Given the description of an element on the screen output the (x, y) to click on. 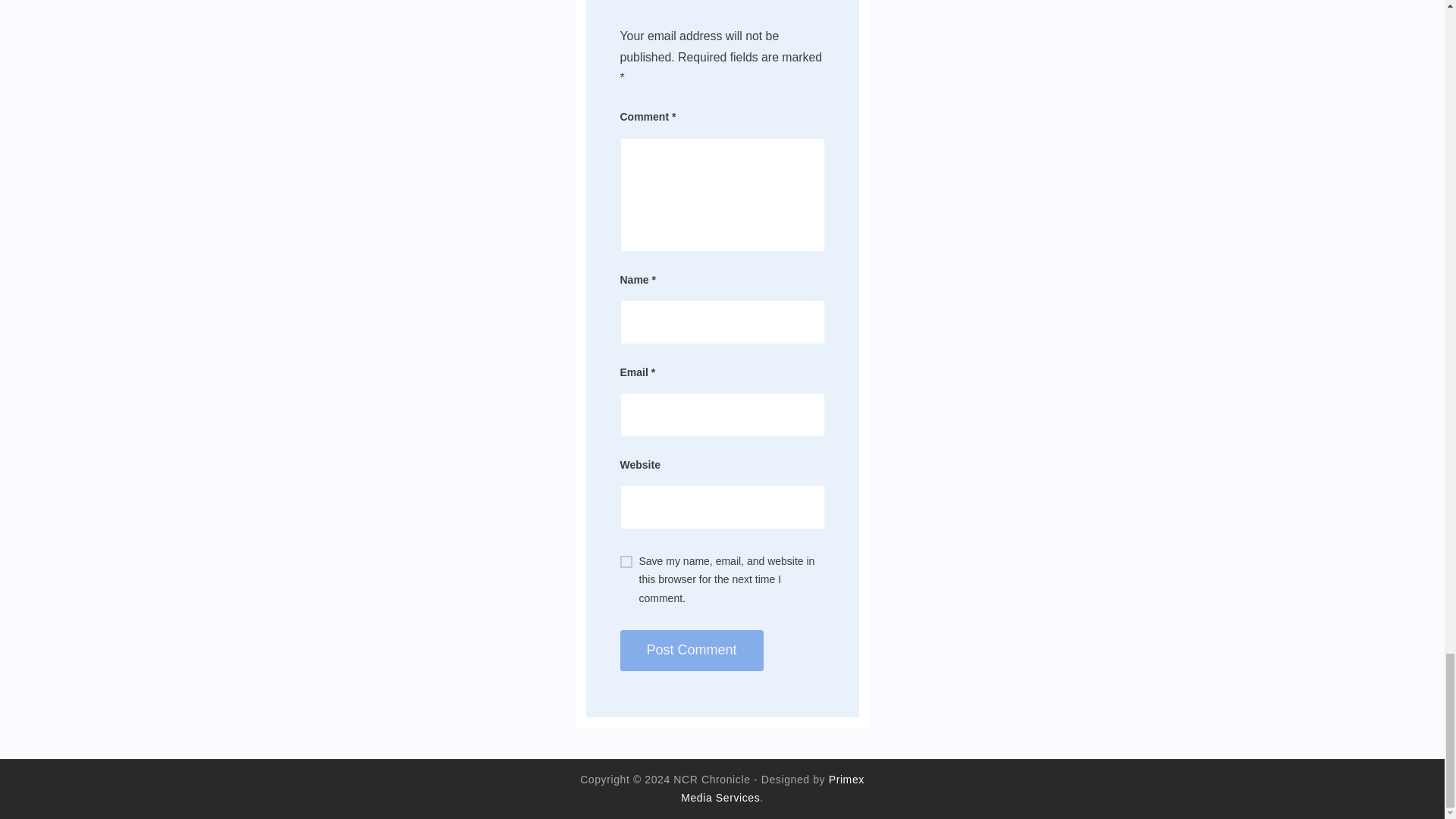
Post Comment (691, 649)
Post Comment (691, 649)
Primex Media Services (772, 788)
